Given the description of an element on the screen output the (x, y) to click on. 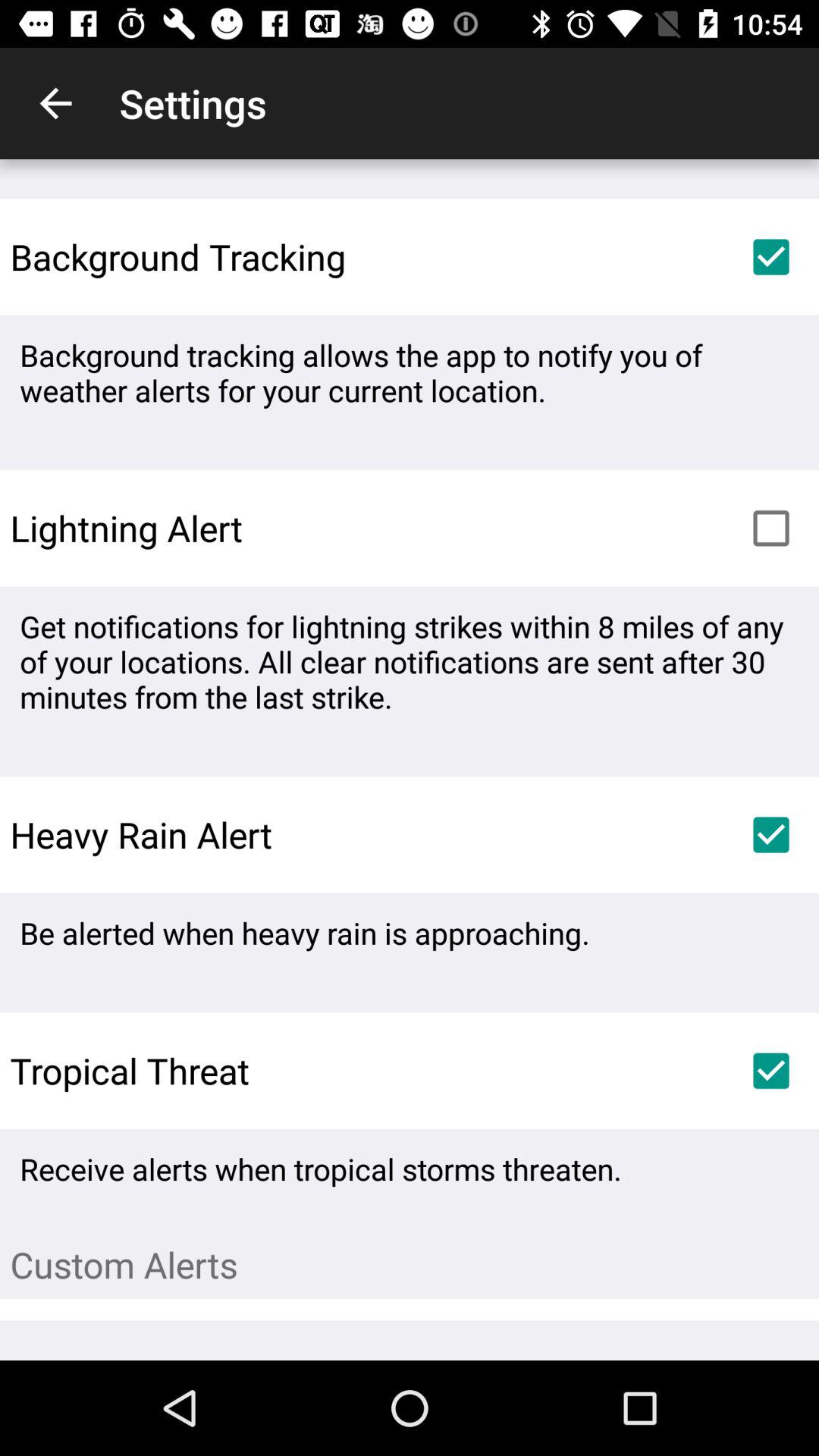
tap icon above custom alerts icon (771, 1070)
